Given the description of an element on the screen output the (x, y) to click on. 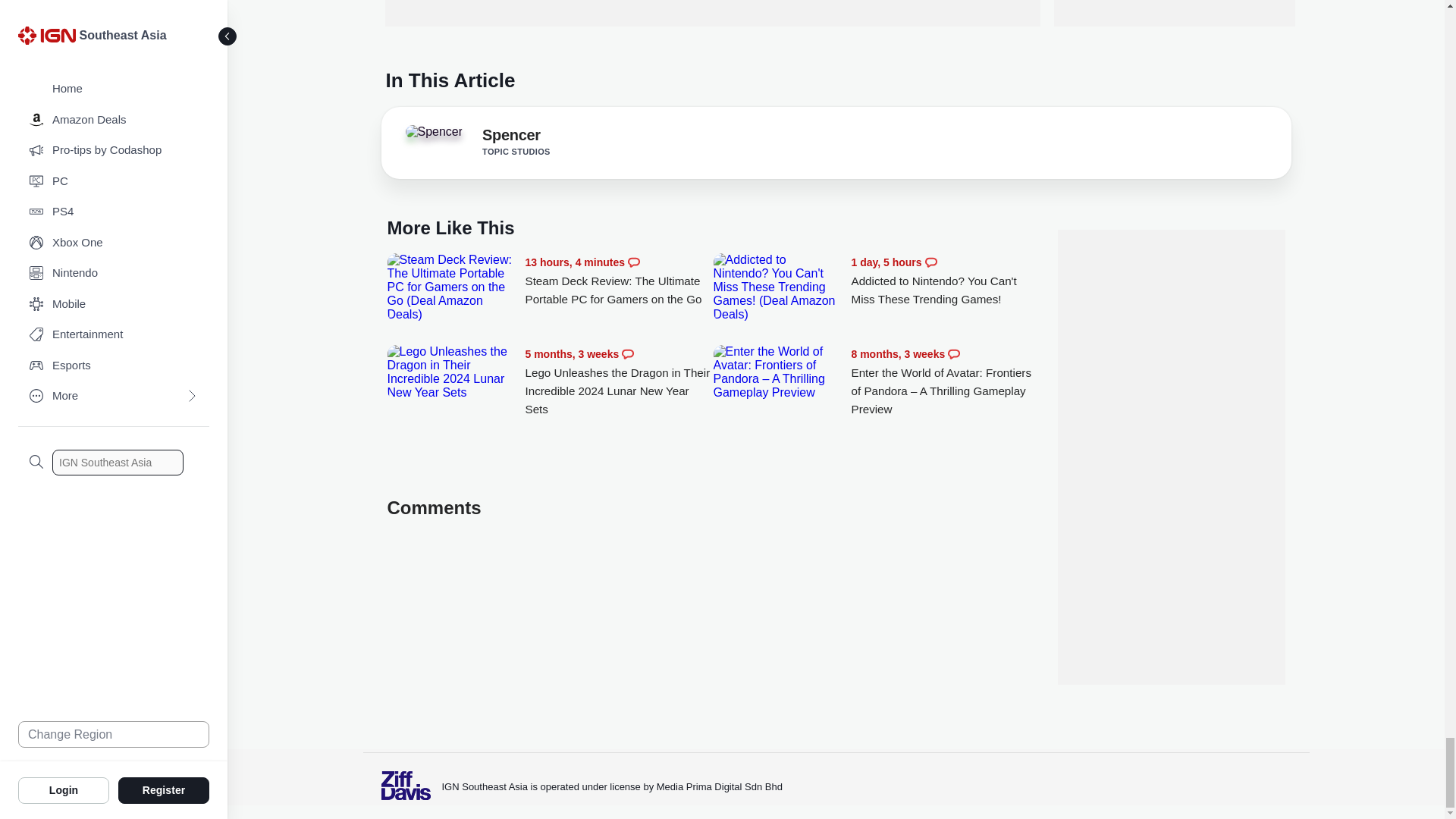
Addicted to Nintendo? You Can't Miss These Trending Games! (944, 280)
Spencer (439, 136)
Comments (930, 262)
Spencer (433, 131)
Addicted to Nintendo? You Can't Miss These Trending Games! (778, 287)
Spencer (510, 137)
Comments (627, 354)
Comments (633, 262)
